Given the description of an element on the screen output the (x, y) to click on. 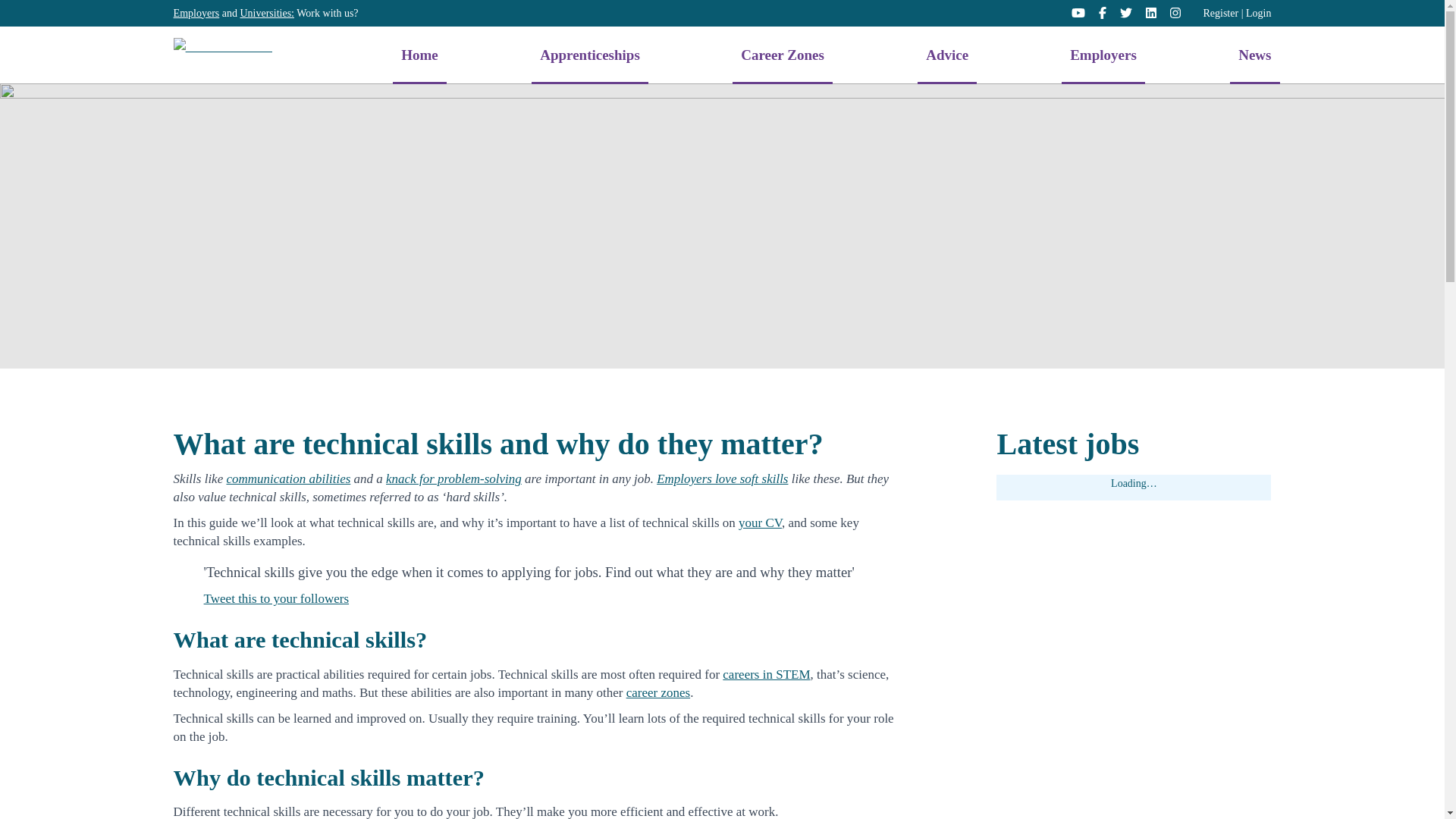
your CV (759, 522)
career zones (658, 692)
communication abilities (287, 478)
Home (419, 54)
learn about soft skills (721, 478)
Employers (1102, 54)
view a CV template (759, 522)
view Success at School career zones (658, 692)
Universities: (267, 12)
Login (1258, 12)
Tweet this to your followers (276, 598)
Employers love soft skills (721, 478)
Advice (946, 54)
knack for problem-solving (453, 478)
Career Zones (782, 54)
